Given the description of an element on the screen output the (x, y) to click on. 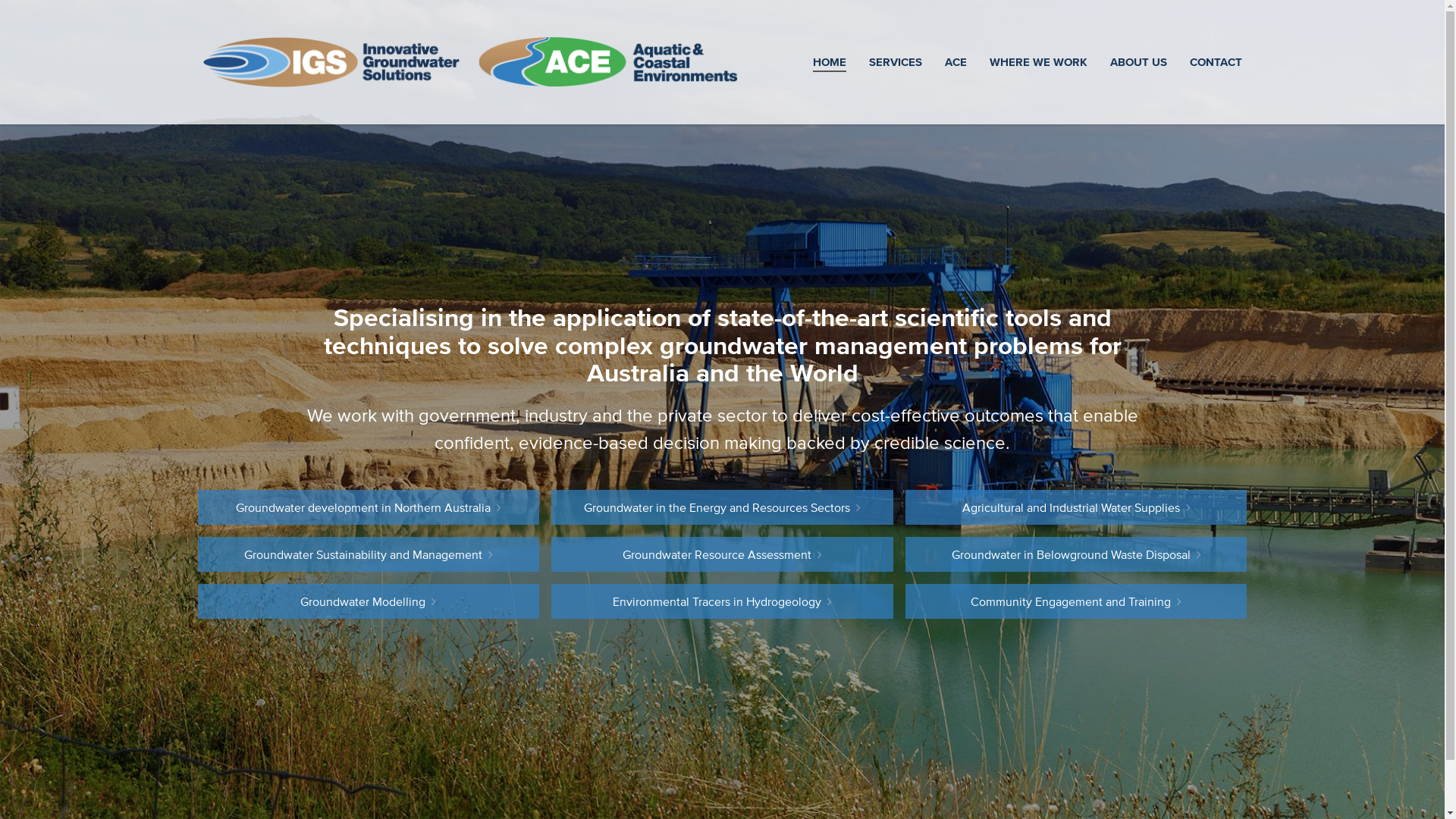
ACE Element type: text (954, 61)
WHERE WE WORK Element type: text (1038, 61)
Groundwater Resource Assessment   Element type: text (722, 553)
Groundwater in Belowground Waste Disposal   Element type: text (1076, 553)
Innovative Groundwater Solutions Element type: hover (333, 62)
HOME Element type: text (828, 61)
Groundwater Modelling   Element type: text (368, 600)
Agricultural and Industrial Water Supplies   Element type: text (1076, 506)
SERVICES Element type: text (894, 61)
Environmental Tracers in Hydrogeology   Element type: text (722, 600)
Groundwater development in Northern Australia   Element type: text (368, 506)
ABOUT US Element type: text (1137, 61)
CONTACT Element type: text (1215, 61)
Groundwater Sustainability and Management   Element type: text (368, 553)
Aquatic and Coastal Environments Element type: hover (606, 62)
Community Engagement and Training   Element type: text (1076, 600)
Groundwater in the Energy and Resources Sectors   Element type: text (722, 506)
